Given the description of an element on the screen output the (x, y) to click on. 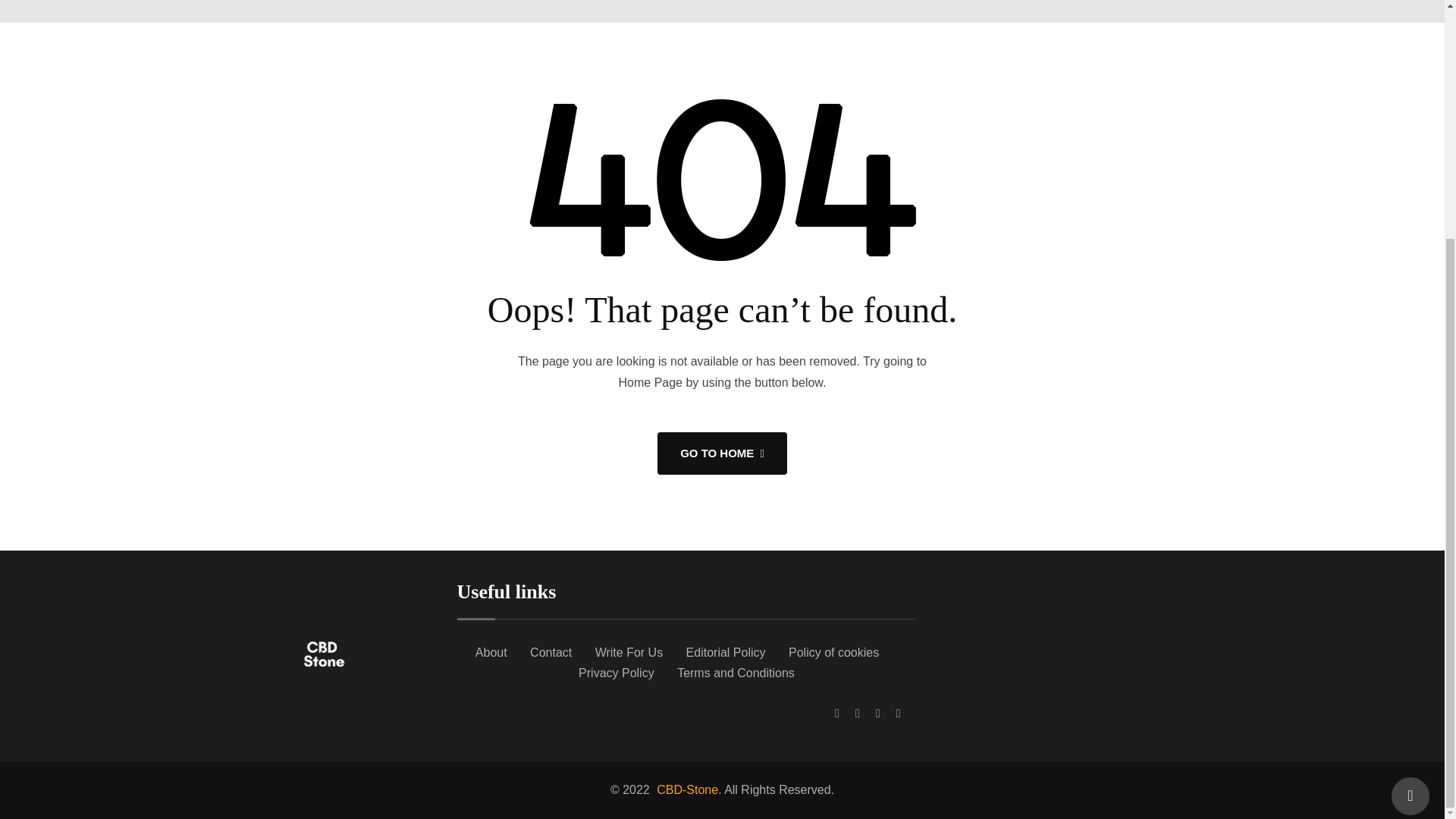
Write For Us (628, 652)
Contact (550, 652)
Terms and Conditions (735, 672)
Editorial Policy (725, 652)
Policy of cookies (834, 652)
GO TO HOME (722, 453)
About (491, 652)
CBD-Stone (684, 789)
Privacy Policy (615, 672)
